Given the description of an element on the screen output the (x, y) to click on. 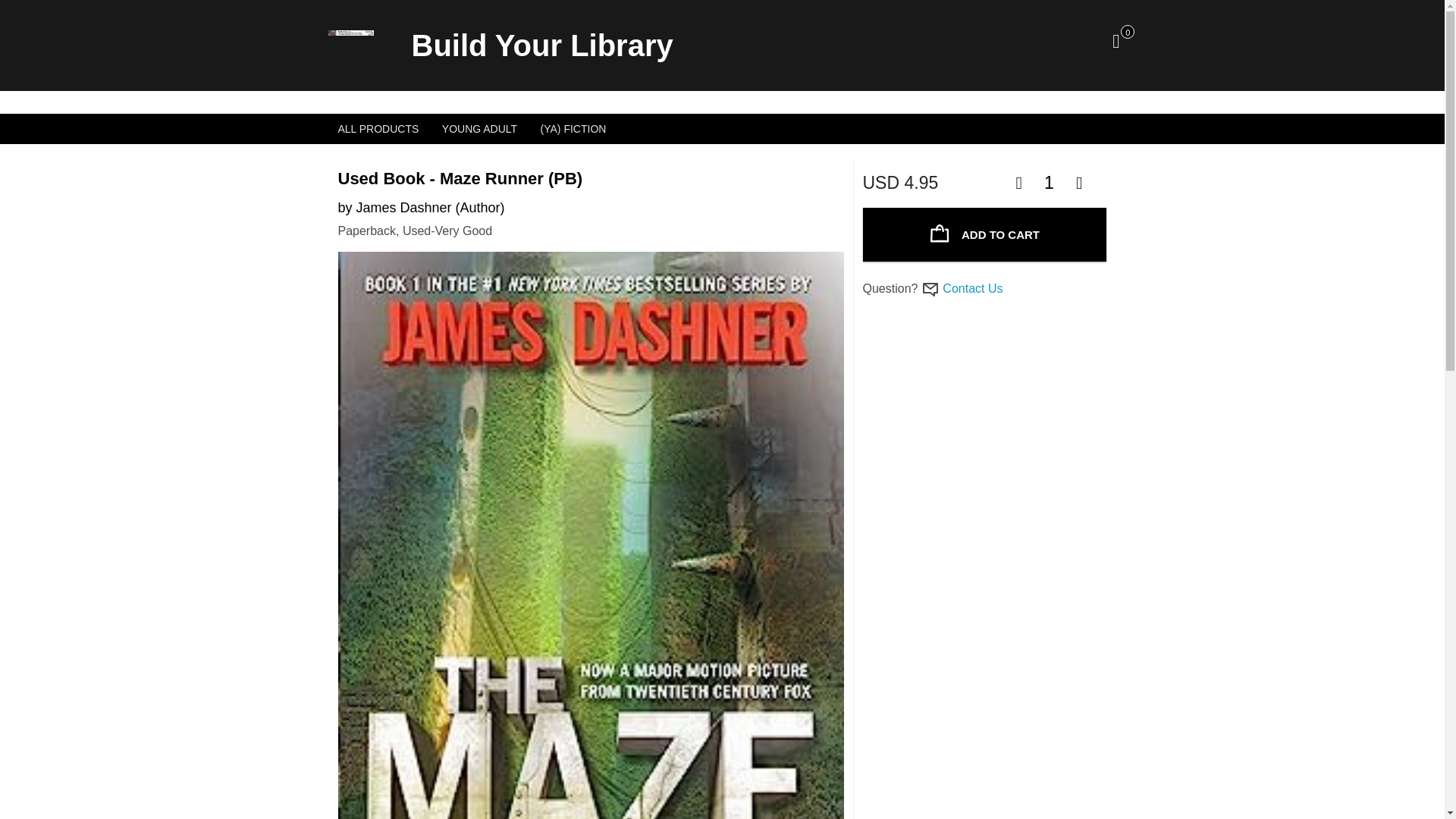
YOUNG ADULT (479, 128)
ALL PRODUCTS (377, 128)
Contact Us (972, 287)
ADD TO CART (984, 234)
